Given the description of an element on the screen output the (x, y) to click on. 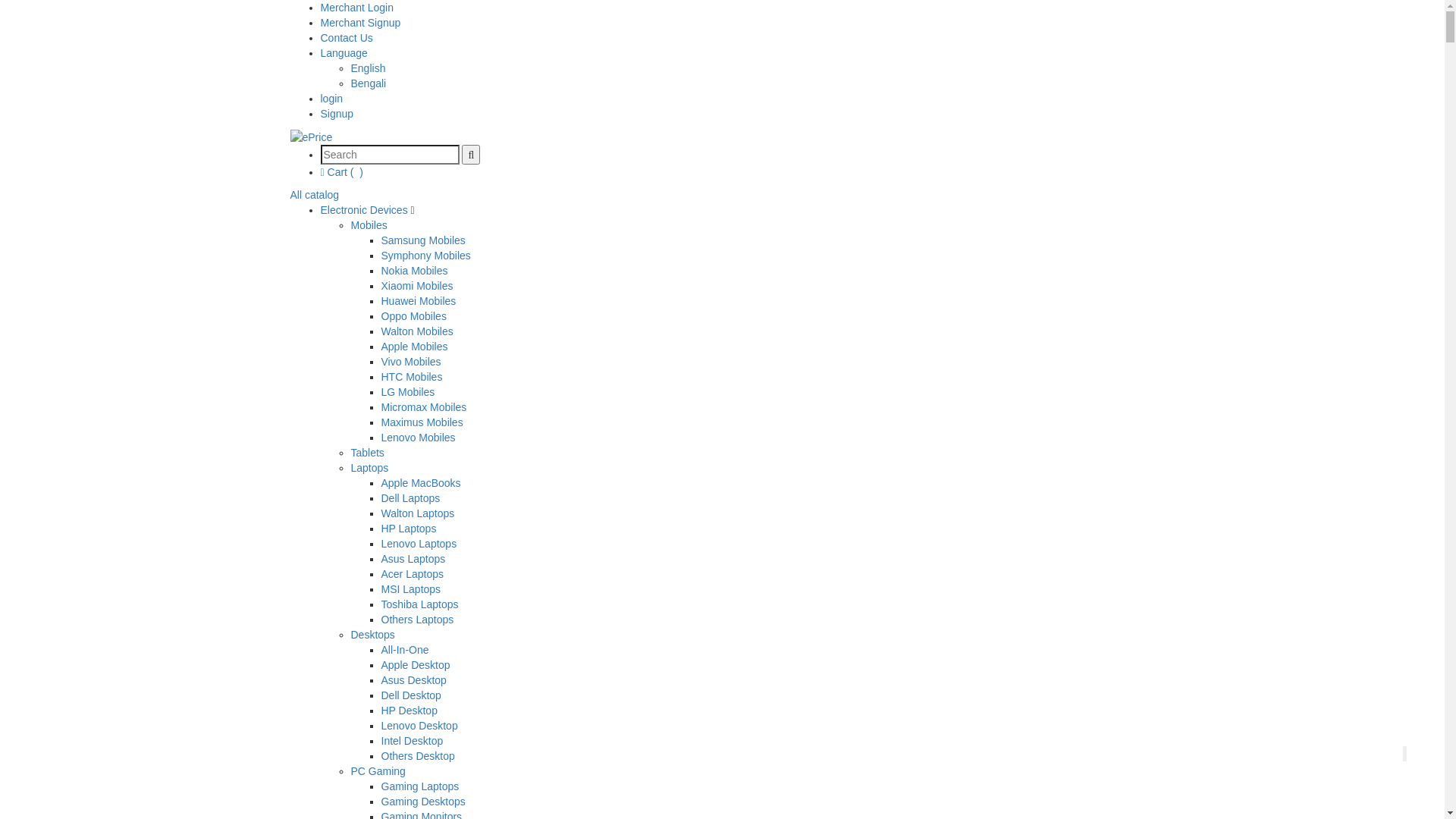
Merchant Login Element type: text (356, 7)
Desktops Element type: text (372, 634)
Oppo Mobiles Element type: text (412, 316)
Maximus Mobiles Element type: text (421, 422)
Lenovo Laptops Element type: text (418, 543)
Walton Laptops Element type: text (417, 513)
HTC Mobiles Element type: text (411, 376)
Nokia Mobiles Element type: text (413, 270)
Electronic Devices Element type: text (365, 209)
Intel Desktop Element type: text (411, 740)
Dell Desktop Element type: text (410, 695)
login Element type: text (331, 98)
Gaming Laptops Element type: text (419, 786)
All-In-One Element type: text (404, 649)
Apple Desktop Element type: text (414, 664)
Dell Laptops Element type: text (409, 498)
Xiaomi Mobiles Element type: text (416, 285)
English Element type: text (367, 68)
MSI Laptops Element type: text (410, 589)
Laptops Element type: text (369, 467)
Walton Mobiles Element type: text (416, 331)
Tablets Element type: text (366, 452)
Micromax Mobiles Element type: text (423, 407)
Gaming Desktops Element type: text (422, 801)
Apple Mobiles Element type: text (413, 346)
Bengali Element type: text (367, 83)
Asus Laptops Element type: text (412, 558)
Mobiles Element type: text (368, 225)
Merchant Signup Element type: text (360, 22)
HP Laptops Element type: text (408, 528)
HP Desktop Element type: text (408, 710)
Acer Laptops Element type: text (411, 573)
Huawei Mobiles Element type: text (417, 300)
All catalog Element type: text (313, 194)
PC Gaming Element type: text (377, 771)
Apple MacBooks Element type: text (420, 482)
Others Desktop Element type: text (417, 755)
Samsung Mobiles Element type: text (422, 240)
Lenovo Mobiles Element type: text (417, 437)
Language Element type: text (343, 53)
Signup Element type: text (336, 113)
Others Laptops Element type: text (416, 619)
LG Mobiles Element type: text (407, 391)
Lenovo Desktop Element type: text (418, 725)
Asus Desktop Element type: text (412, 680)
Contact Us Element type: text (346, 37)
Symphony Mobiles Element type: text (425, 255)
Cart (0) Element type: text (341, 172)
Toshiba Laptops Element type: text (419, 604)
Vivo Mobiles Element type: text (410, 361)
